Given the description of an element on the screen output the (x, y) to click on. 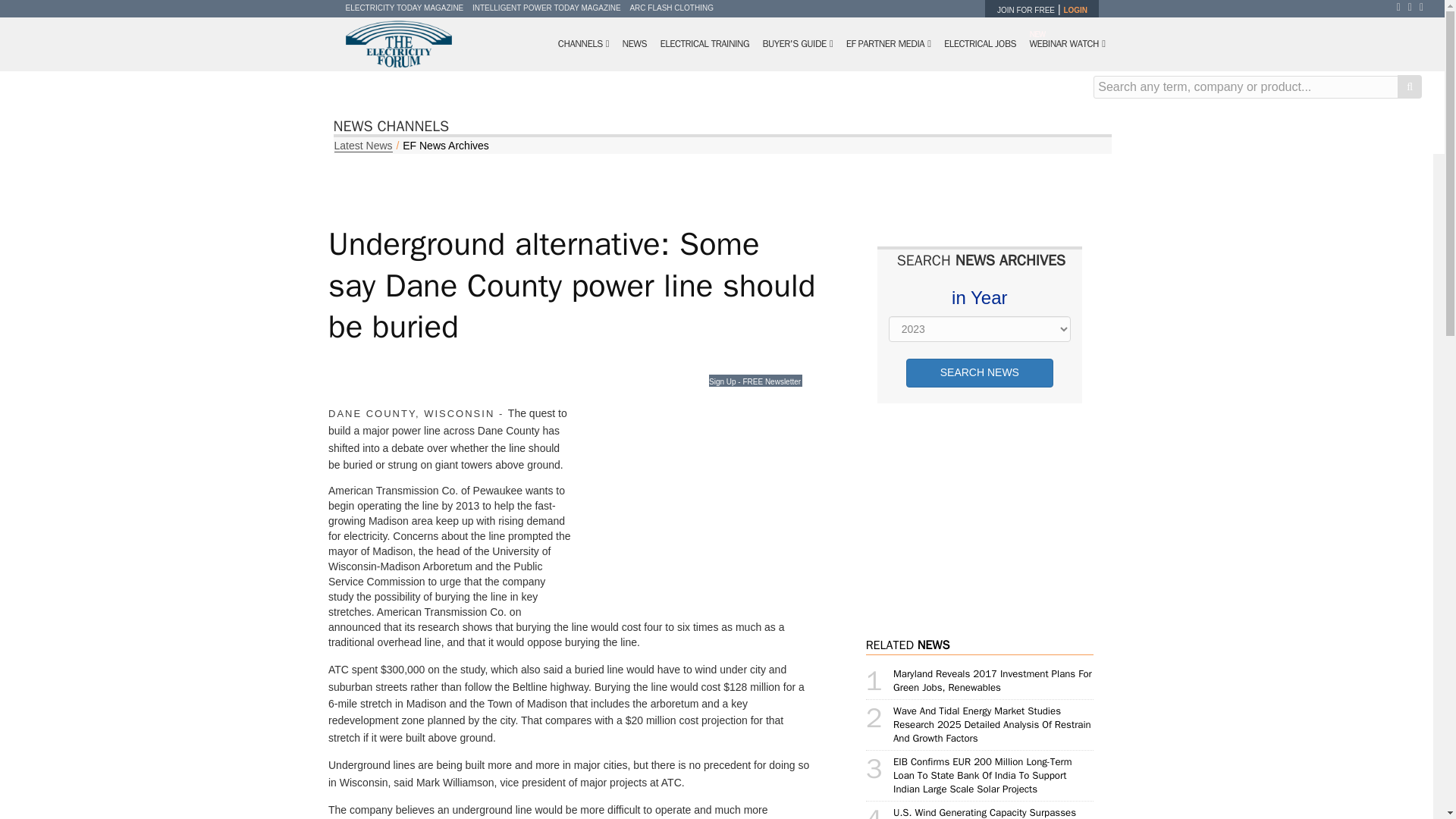
Twitter (1413, 6)
ARC FLASH CLOTHING (670, 8)
Sign Up - FREE Newsletter (755, 380)
SEARCH NEWS (978, 372)
EF PARTNER MEDIA (888, 44)
EF News Archives (446, 145)
CHANNELS (583, 44)
JOIN FOR FREE (1025, 9)
LinkedIn (1425, 6)
BUYER'S GUIDE (797, 44)
ELECTRICITY TODAY MAGAZINE (405, 8)
Facebook (1401, 6)
INTELLIGENT POWER TODAY MAGAZINE (546, 8)
Advertisement (694, 506)
